Given the description of an element on the screen output the (x, y) to click on. 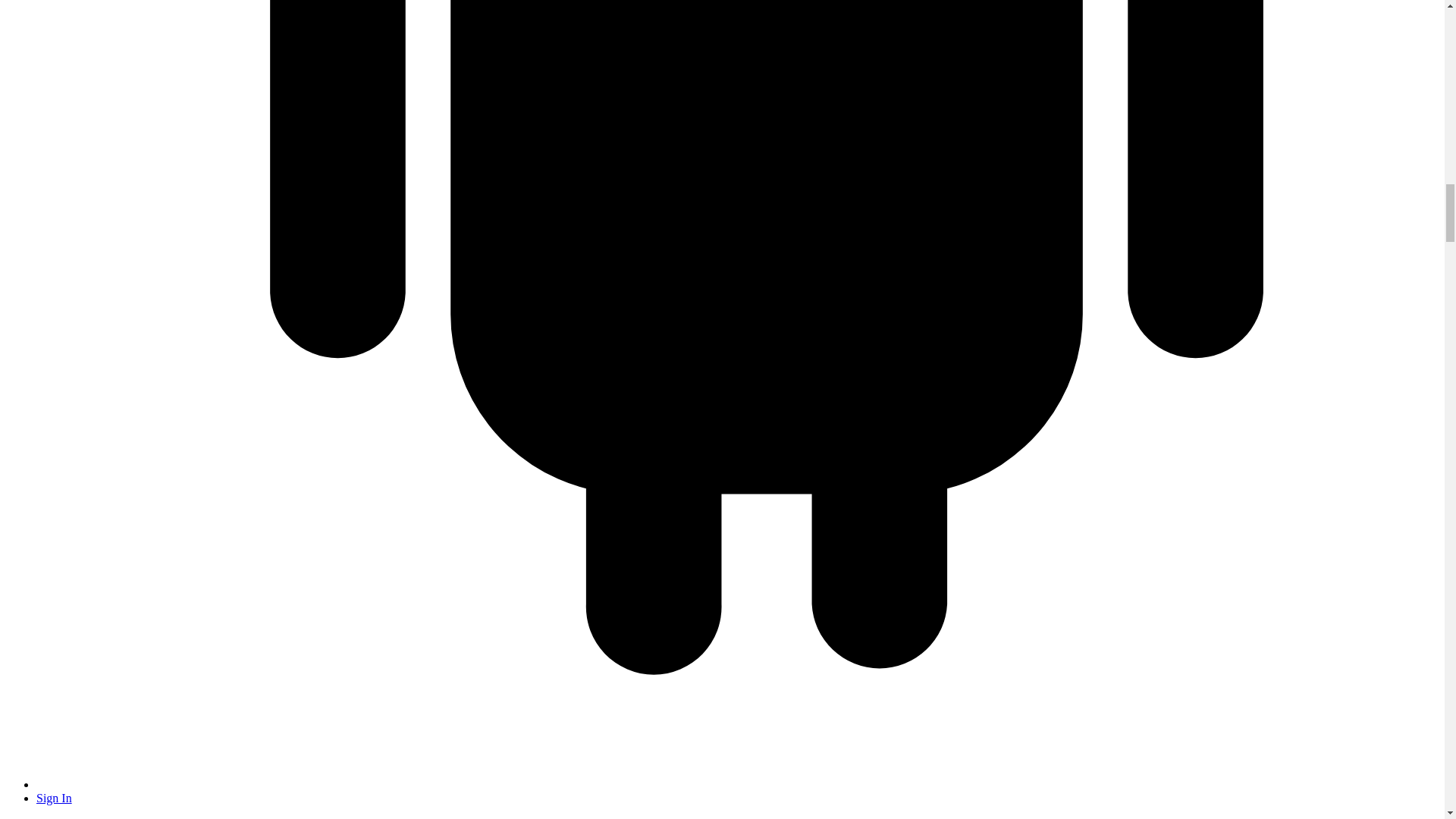
Sign In (53, 797)
